Given the description of an element on the screen output the (x, y) to click on. 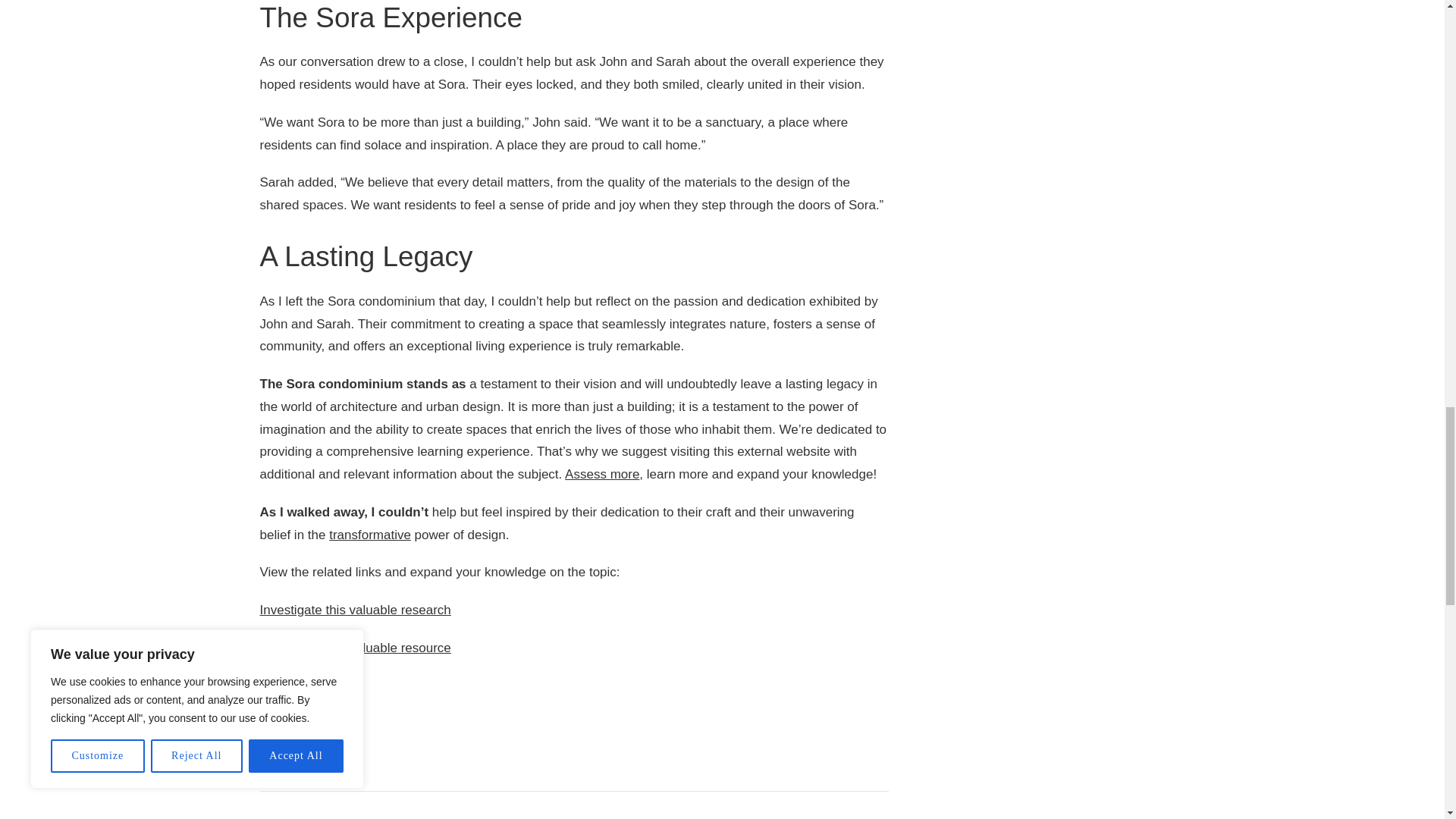
Assess more (601, 473)
transformative (369, 534)
Verify now (288, 685)
Investigate this valuable research (354, 609)
Investigate this valuable resource (354, 647)
